Given the description of an element on the screen output the (x, y) to click on. 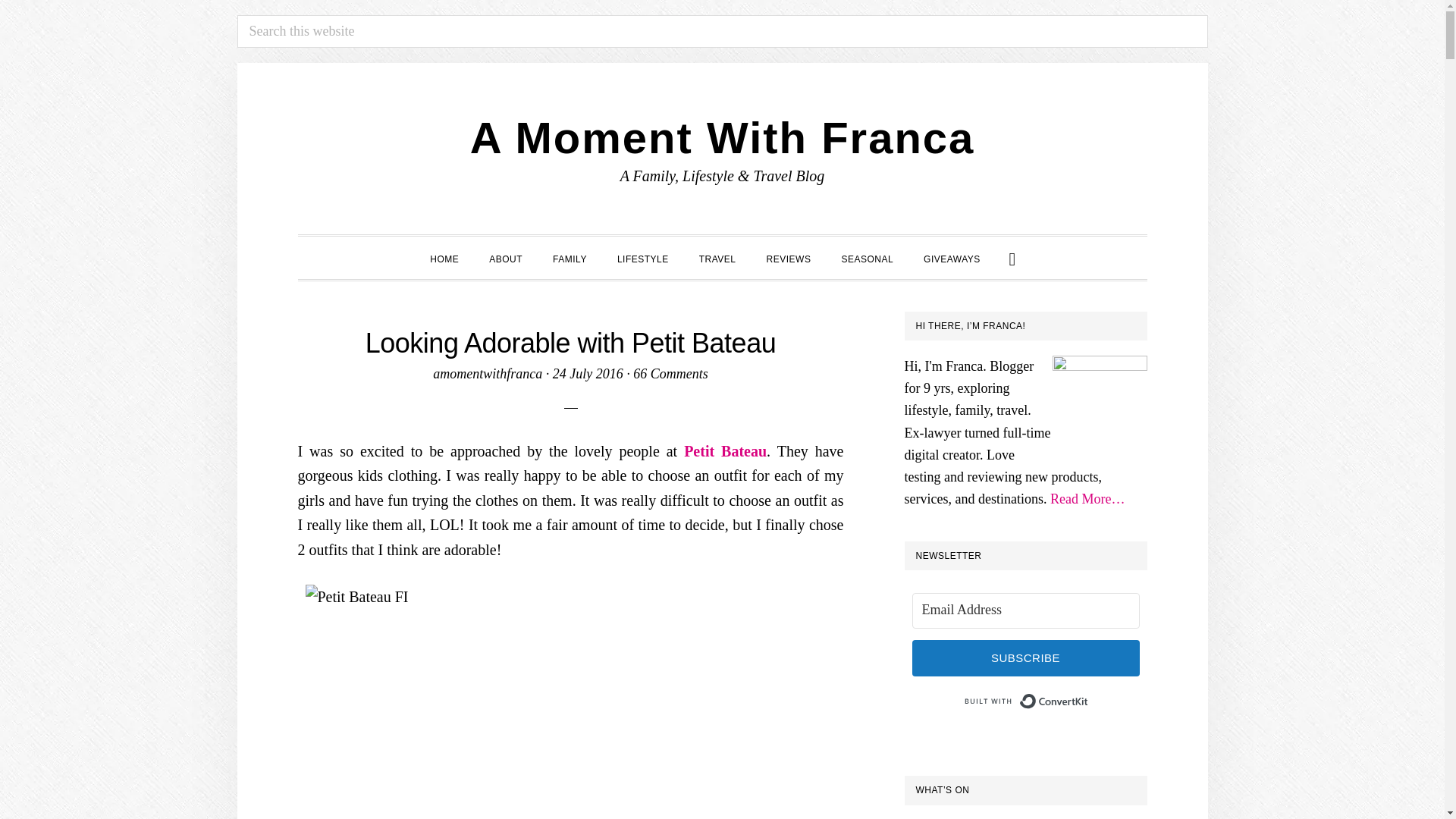
FAMILY (569, 257)
LIFESTYLE (643, 257)
HOME (444, 257)
A Moment With Franca (722, 137)
SEASONAL (866, 257)
ABOUT (505, 257)
